Given the description of an element on the screen output the (x, y) to click on. 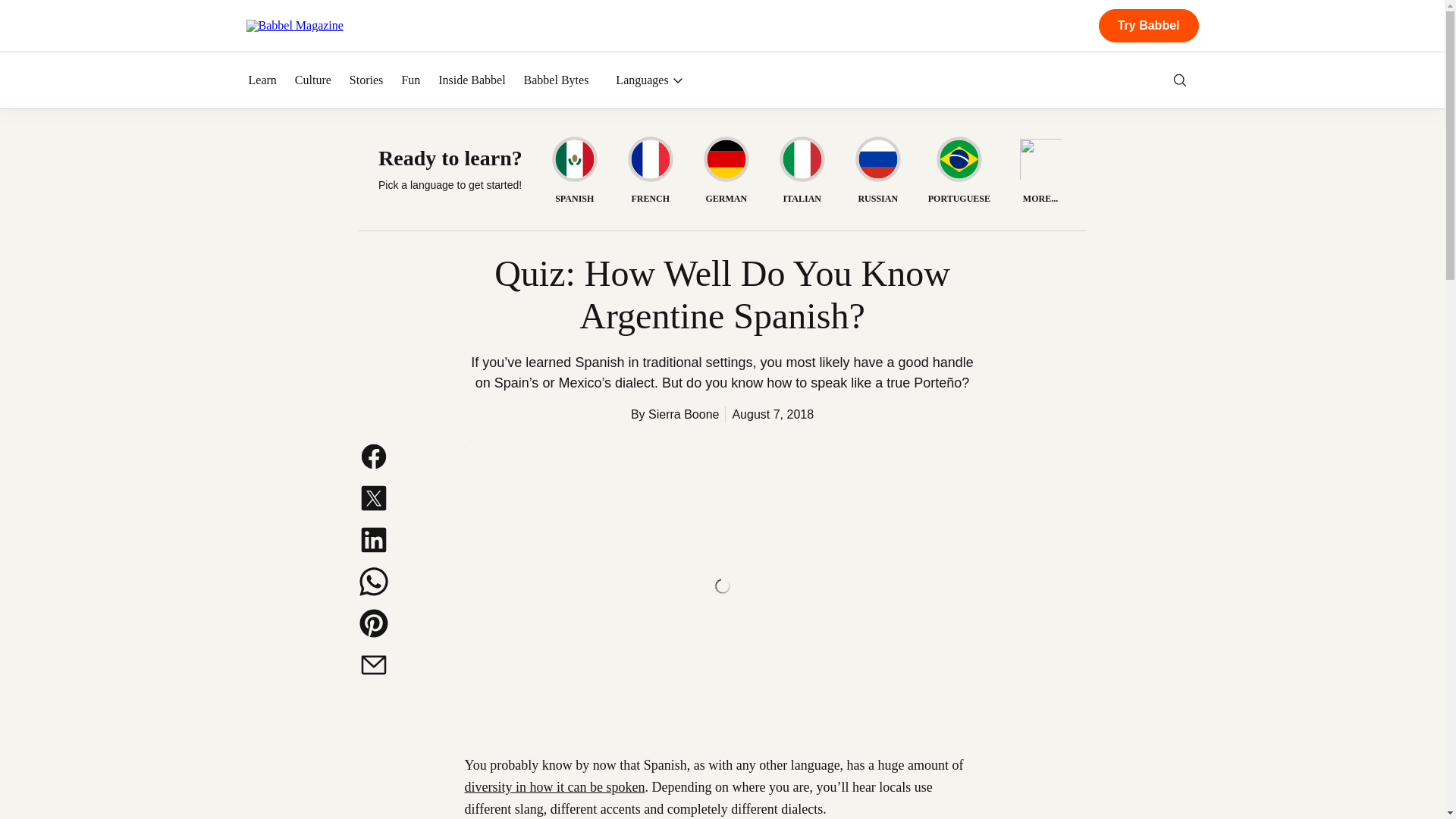
Babbel Bytes (556, 79)
Fun (410, 79)
Languages (650, 80)
Culture (313, 79)
Inside Babbel (471, 79)
Learn (262, 79)
Try Babbel (1148, 25)
Stories (365, 79)
Toggle Search (1179, 80)
